Given the description of an element on the screen output the (x, y) to click on. 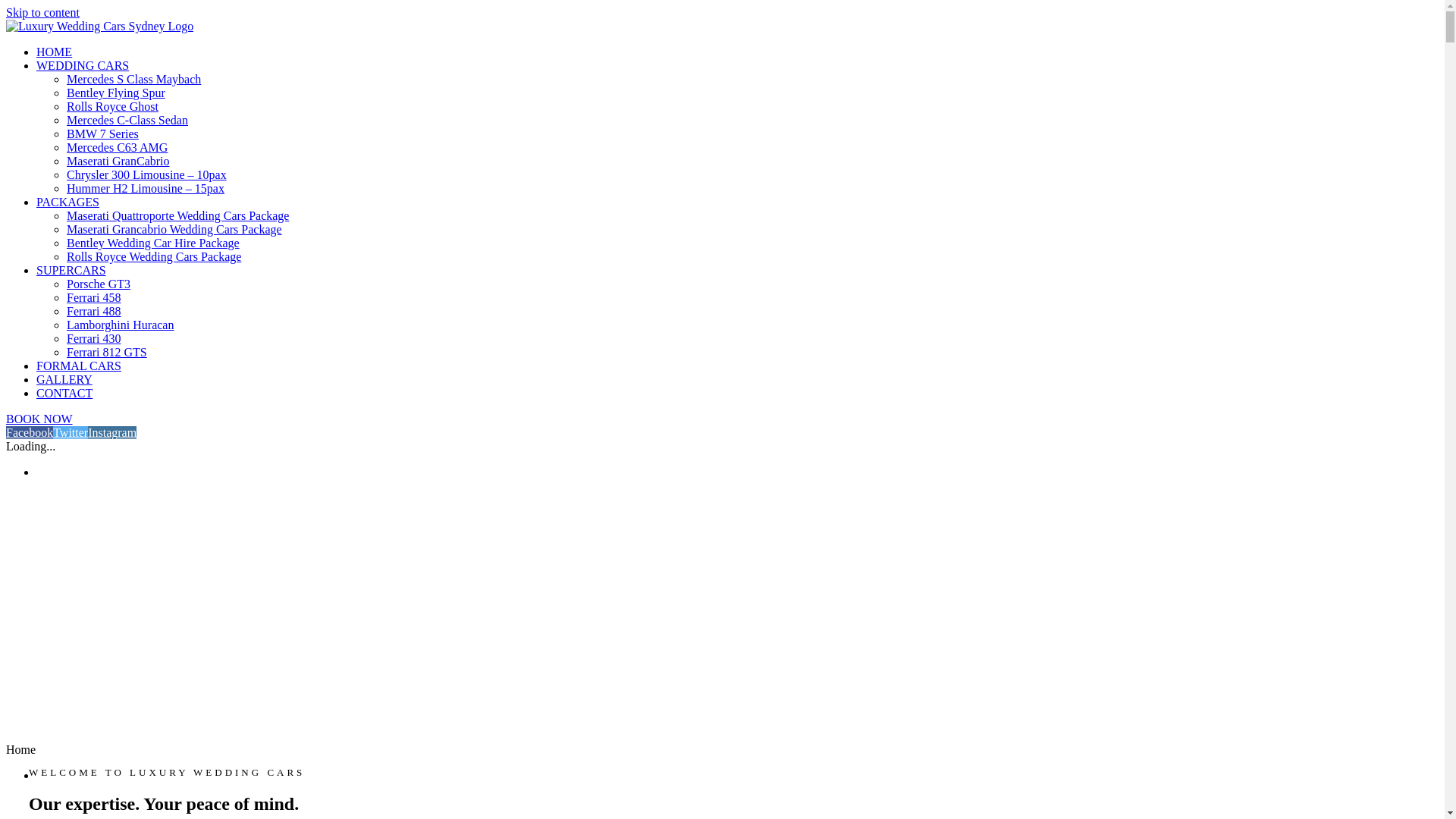
Rolls Royce Wedding Cars Package Element type: text (153, 256)
Bentley Wedding Car Hire Package Element type: text (152, 242)
CONTACT Element type: text (64, 392)
SUPERCARS Element type: text (71, 269)
WEDDING CARS Element type: text (82, 65)
Maserati Grancabrio Wedding Cars Package Element type: text (174, 228)
Facebook Element type: text (29, 432)
Maserati Quattroporte Wedding Cars Package Element type: text (177, 215)
Ferrari 458 Element type: text (93, 297)
GALLERY Element type: text (64, 379)
BMW 7 Series Element type: text (102, 133)
Mercedes C-Class Sedan Element type: text (127, 119)
Ferrari 812 GTS Element type: text (106, 351)
Ferrari 430 Element type: text (93, 338)
BOOK NOW Element type: text (39, 418)
Bentley Flying Spur Element type: text (115, 92)
Mercedes S Class Maybach Element type: text (133, 78)
FORMAL CARS Element type: text (78, 365)
Rolls Royce Ghost Element type: text (112, 106)
Instagram Element type: text (111, 432)
Twitter Element type: text (70, 432)
Lamborghini Huracan Element type: text (119, 324)
Maserati GranCabrio Element type: text (117, 160)
Ferrari 488 Element type: text (93, 310)
PACKAGES Element type: text (67, 201)
Skip to content Element type: text (42, 12)
HOME Element type: text (54, 51)
Porsche GT3 Element type: text (98, 283)
Mercedes C63 AMG Element type: text (116, 147)
